Given the description of an element on the screen output the (x, y) to click on. 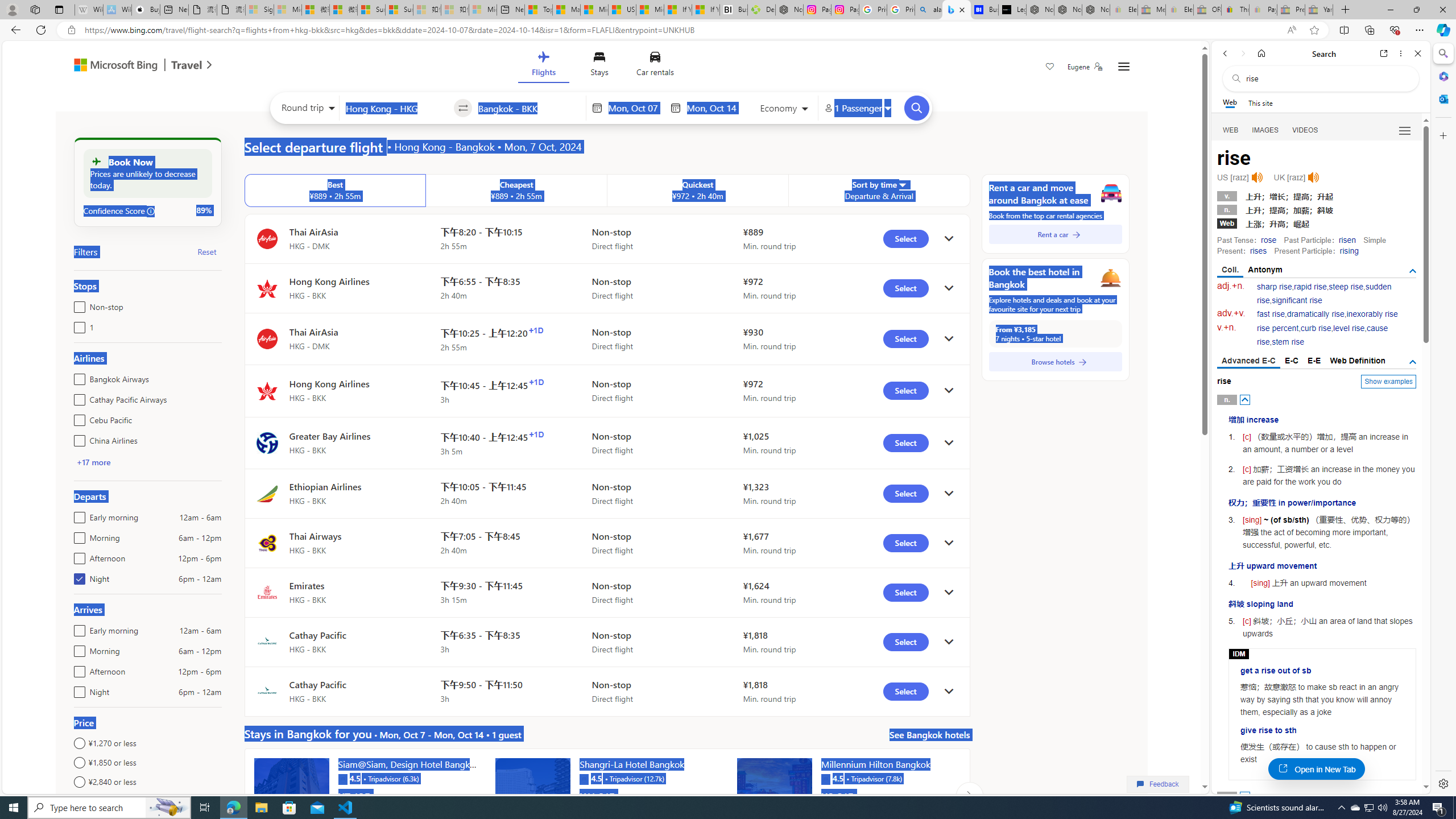
rise percent (1277, 328)
Yard, Garden & Outdoor Living - Sleeping (1319, 9)
Morning6am - 12pm (76, 648)
sharp rise (1274, 286)
Info tooltip (151, 211)
AutomationID: posbtn_1 (1245, 796)
